Given the description of an element on the screen output the (x, y) to click on. 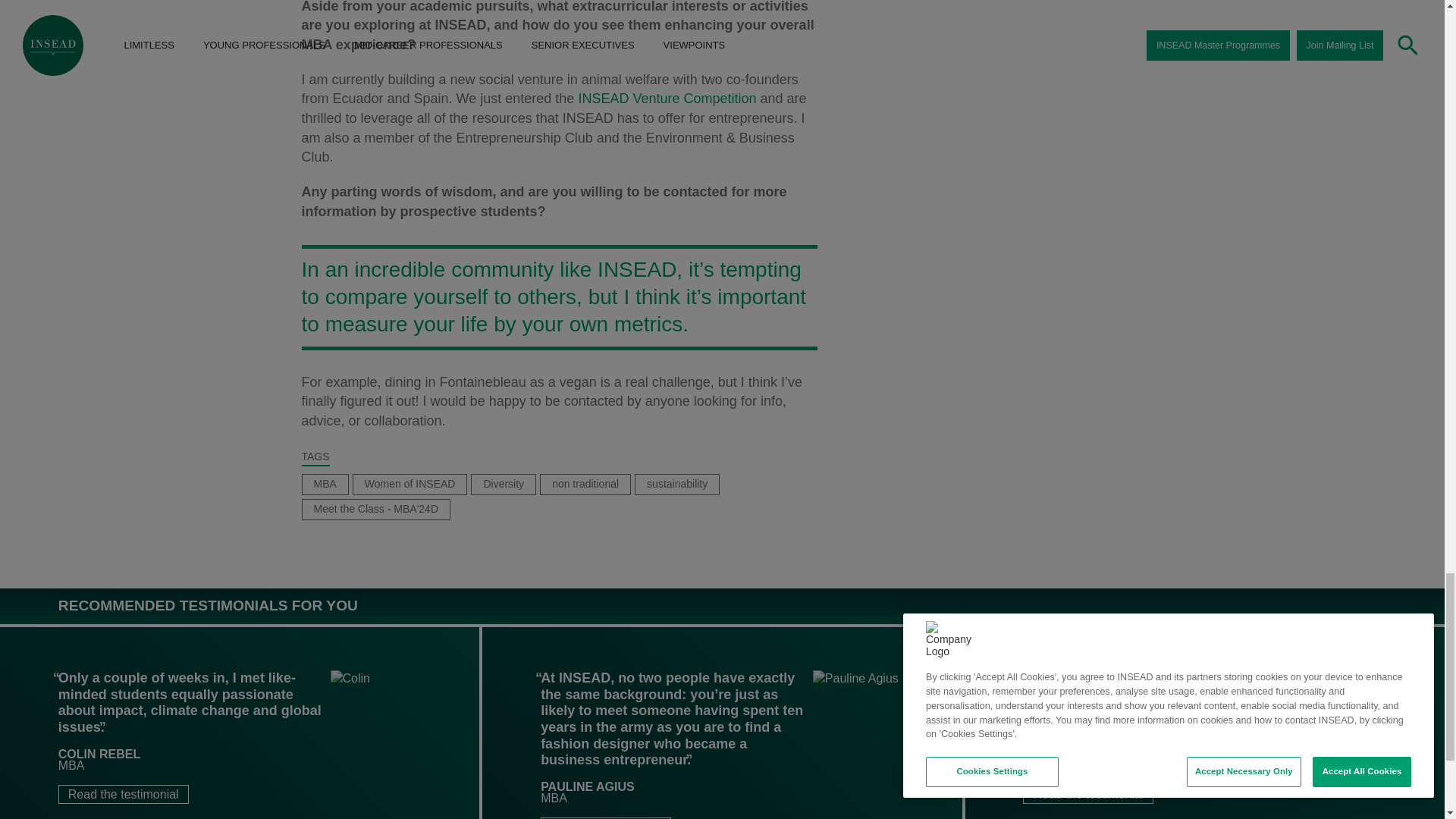
Diversity (503, 483)
PAULINE AGIUS (587, 786)
sustainability (676, 483)
Read the testimonial (123, 793)
MBA (325, 483)
COLIN REBEL (98, 753)
non traditional (584, 483)
Women of INSEAD (410, 483)
Meet the Class - MBA'24D (376, 508)
INSEAD Venture Competition (666, 98)
